Given the description of an element on the screen output the (x, y) to click on. 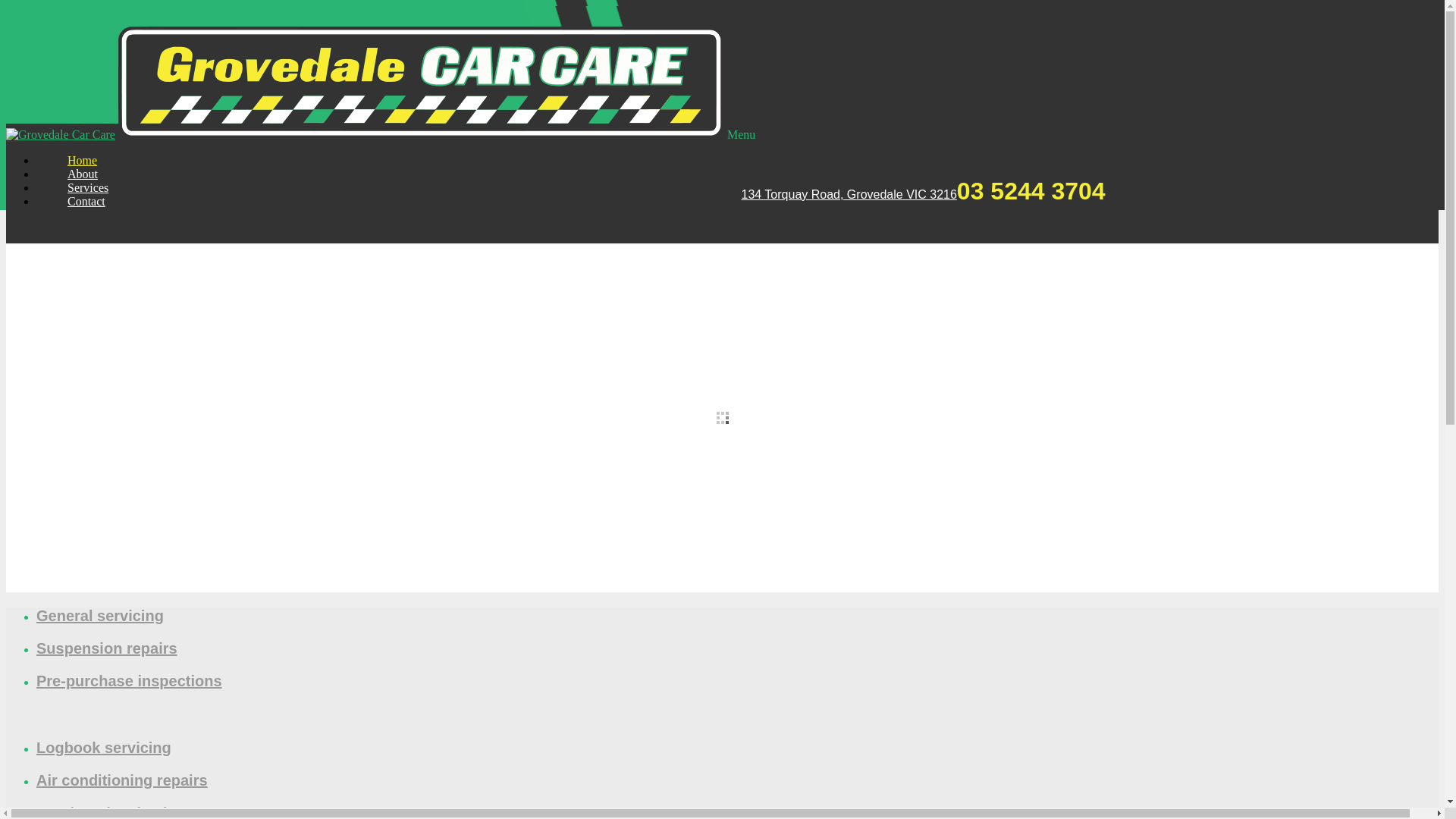
Contact Element type: text (70, 201)
Grovedale Car Care Element type: hover (60, 134)
Logbook servicing Element type: text (103, 747)
Grovedale Car Care Element type: hover (421, 134)
General servicing Element type: text (99, 615)
Air conditioning repairs Element type: text (121, 779)
Menu Element type: text (741, 134)
134 Torquay Road, Grovedale VIC 3216 Element type: text (849, 194)
Home Element type: text (82, 160)
Services Element type: text (87, 187)
Pre-purchase inspections Element type: text (129, 680)
Suspension repairs Element type: text (106, 648)
About Element type: text (82, 174)
03 5244 3704 Element type: text (1031, 192)
